Given the description of an element on the screen output the (x, y) to click on. 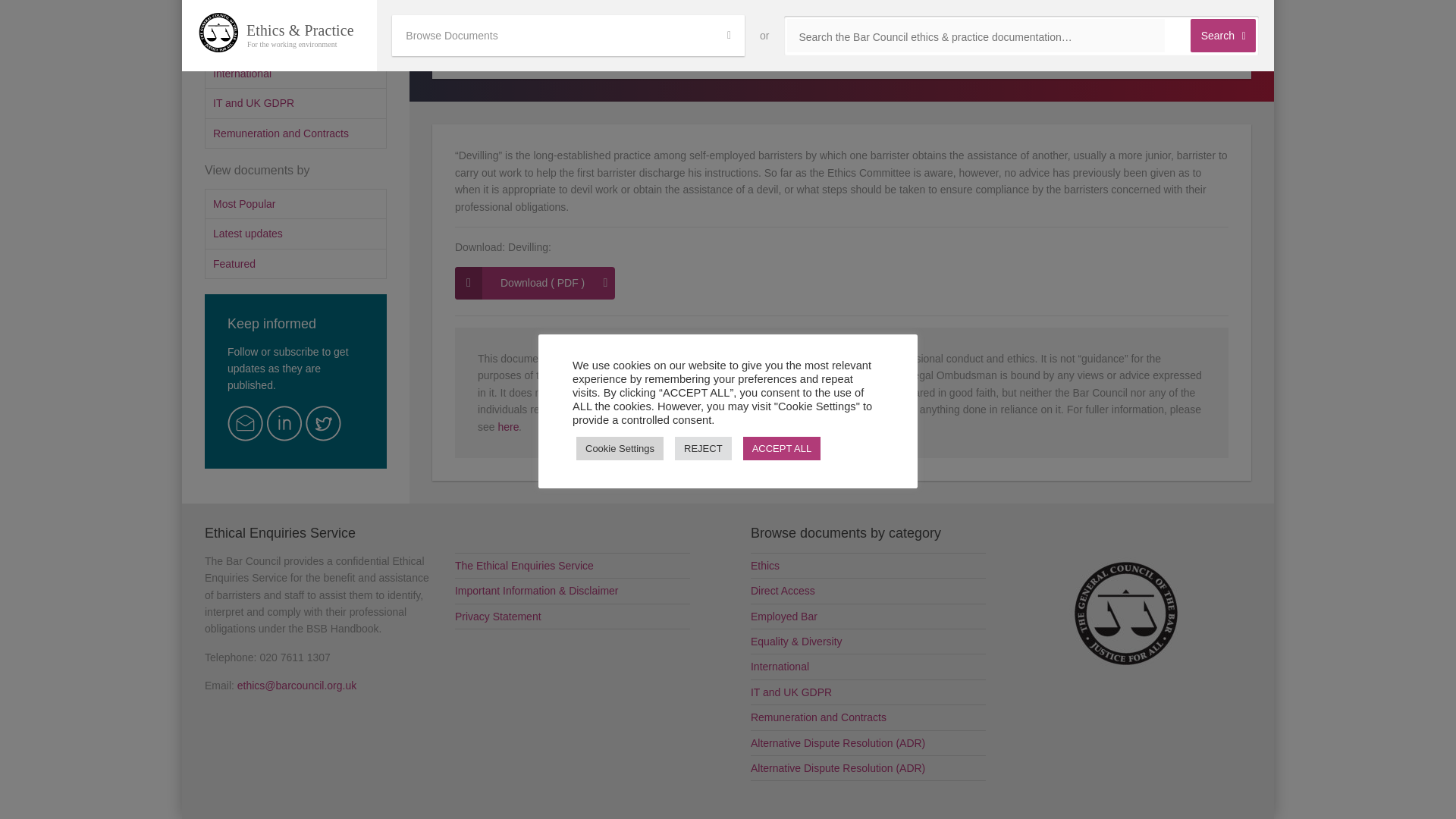
Employed Bar (296, 13)
here (507, 426)
